Given the description of an element on the screen output the (x, y) to click on. 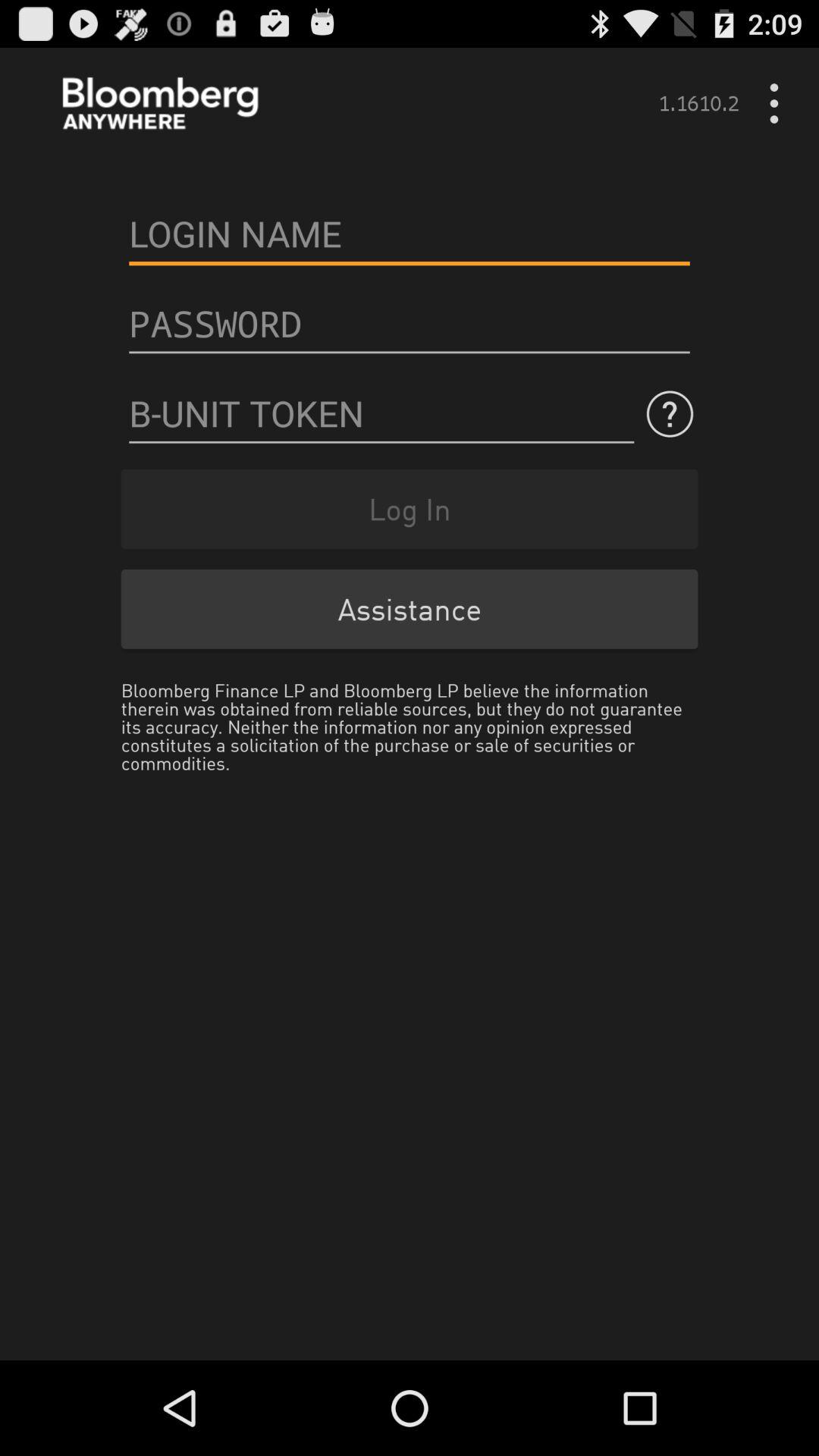
turn off icon above bloomberg finance lp (409, 608)
